Given the description of an element on the screen output the (x, y) to click on. 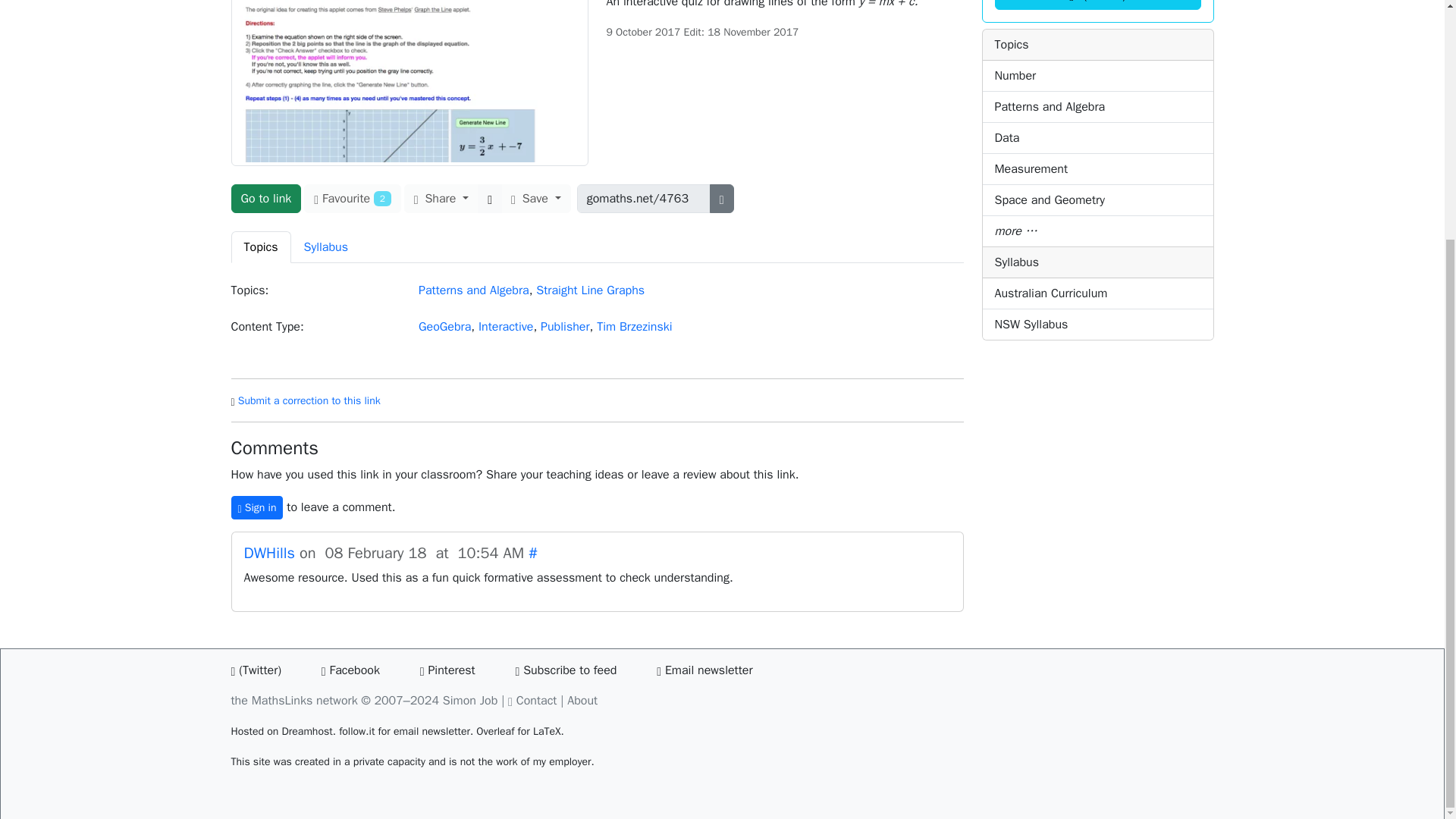
Save (535, 198)
Share (441, 198)
Contact Me (536, 700)
Go to link (265, 198)
Favourite 2 (352, 198)
